Given the description of an element on the screen output the (x, y) to click on. 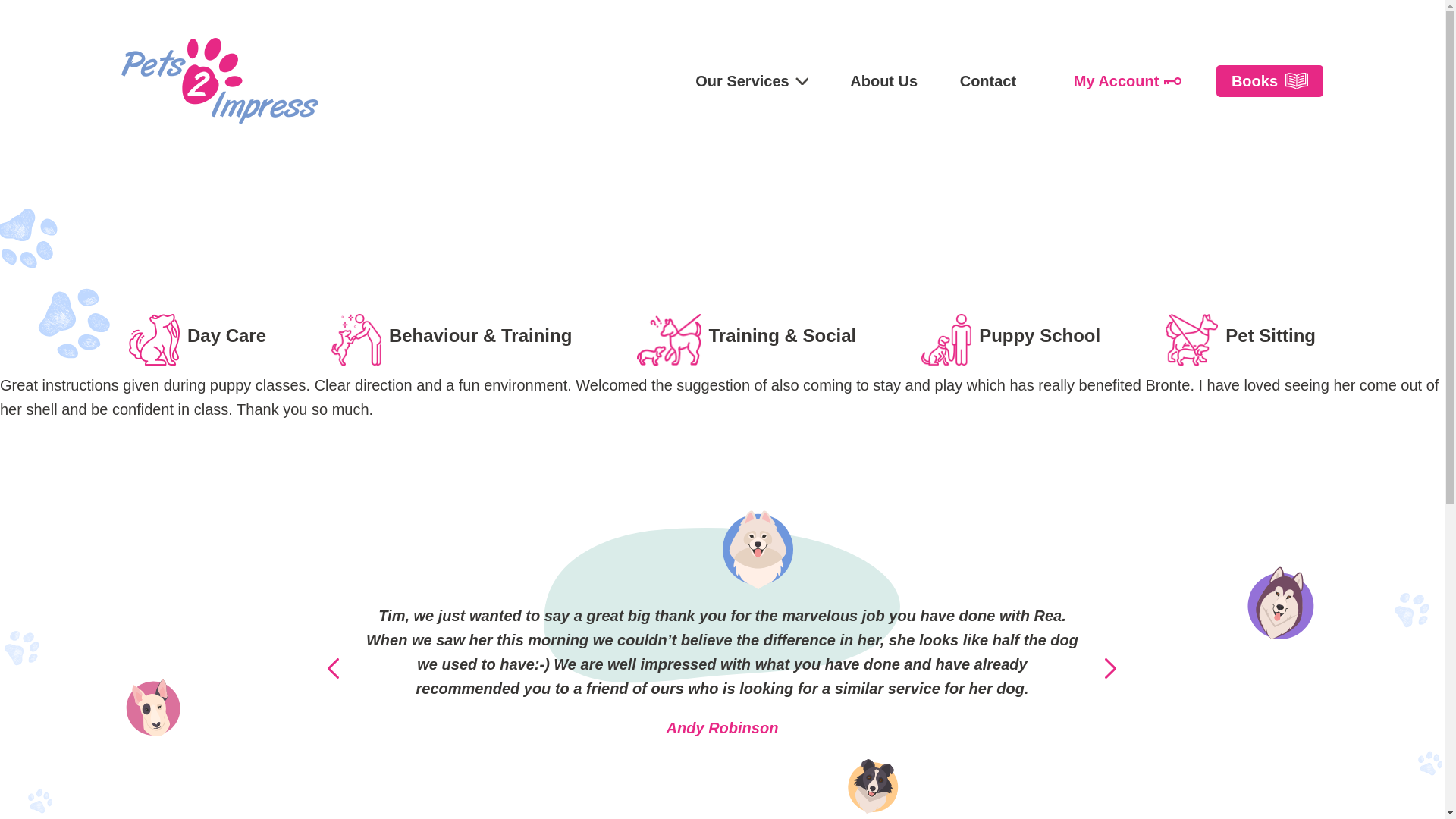
Contact (987, 80)
My Account (1127, 81)
About Us (883, 80)
Our Services (751, 80)
Books (1269, 81)
